Given the description of an element on the screen output the (x, y) to click on. 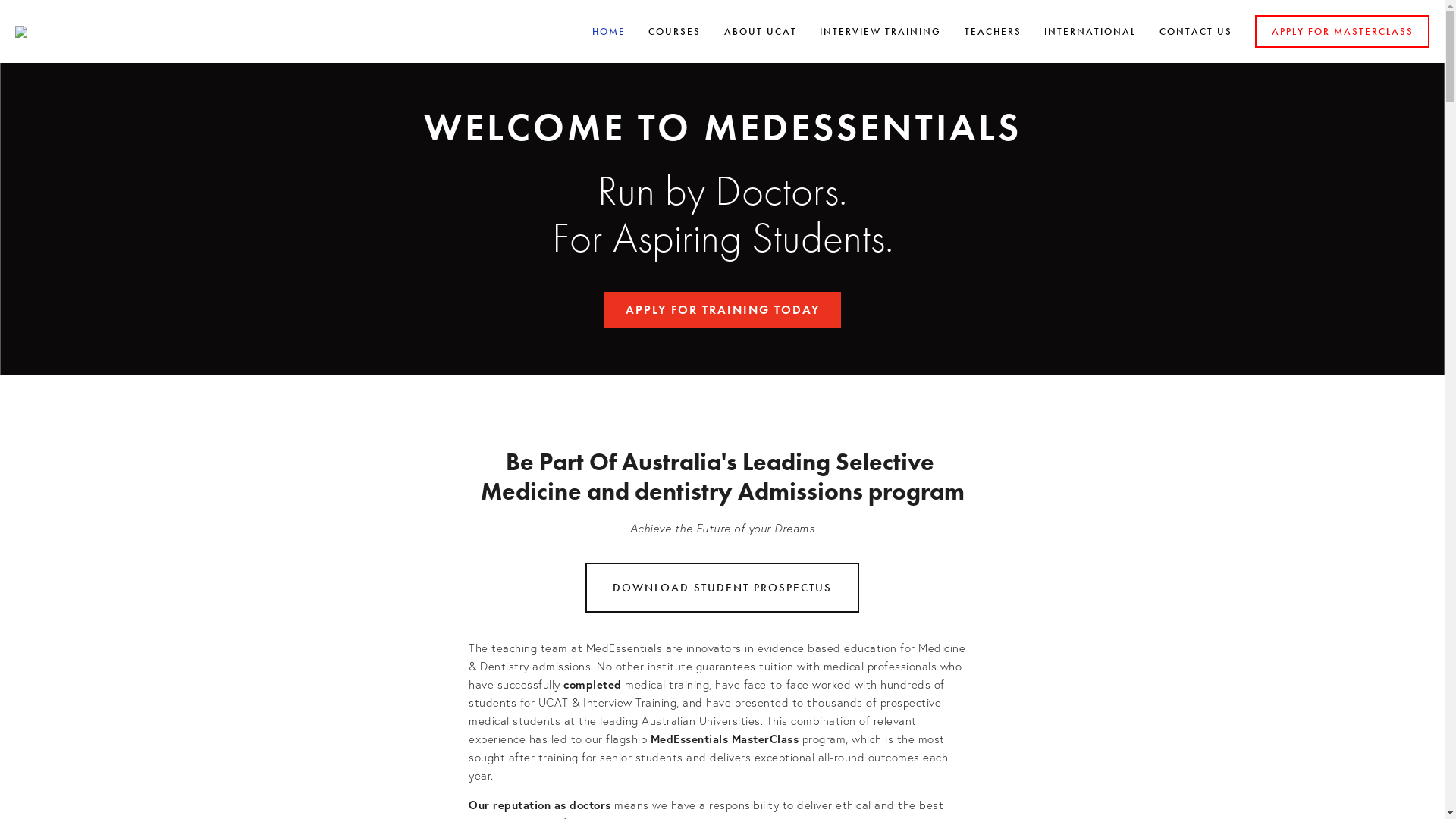
TEACHERS Element type: text (991, 30)
DOWNLOAD STUDENT PROSPECTUS Element type: text (722, 587)
APPLY FOR MASTERCLASS Element type: text (1342, 31)
HOME Element type: text (608, 30)
ABOUT UCAT Element type: text (760, 30)
APPLY FOR TRAINING TODAY Element type: text (721, 309)
CONTACT US Element type: text (1195, 30)
